Given the description of an element on the screen output the (x, y) to click on. 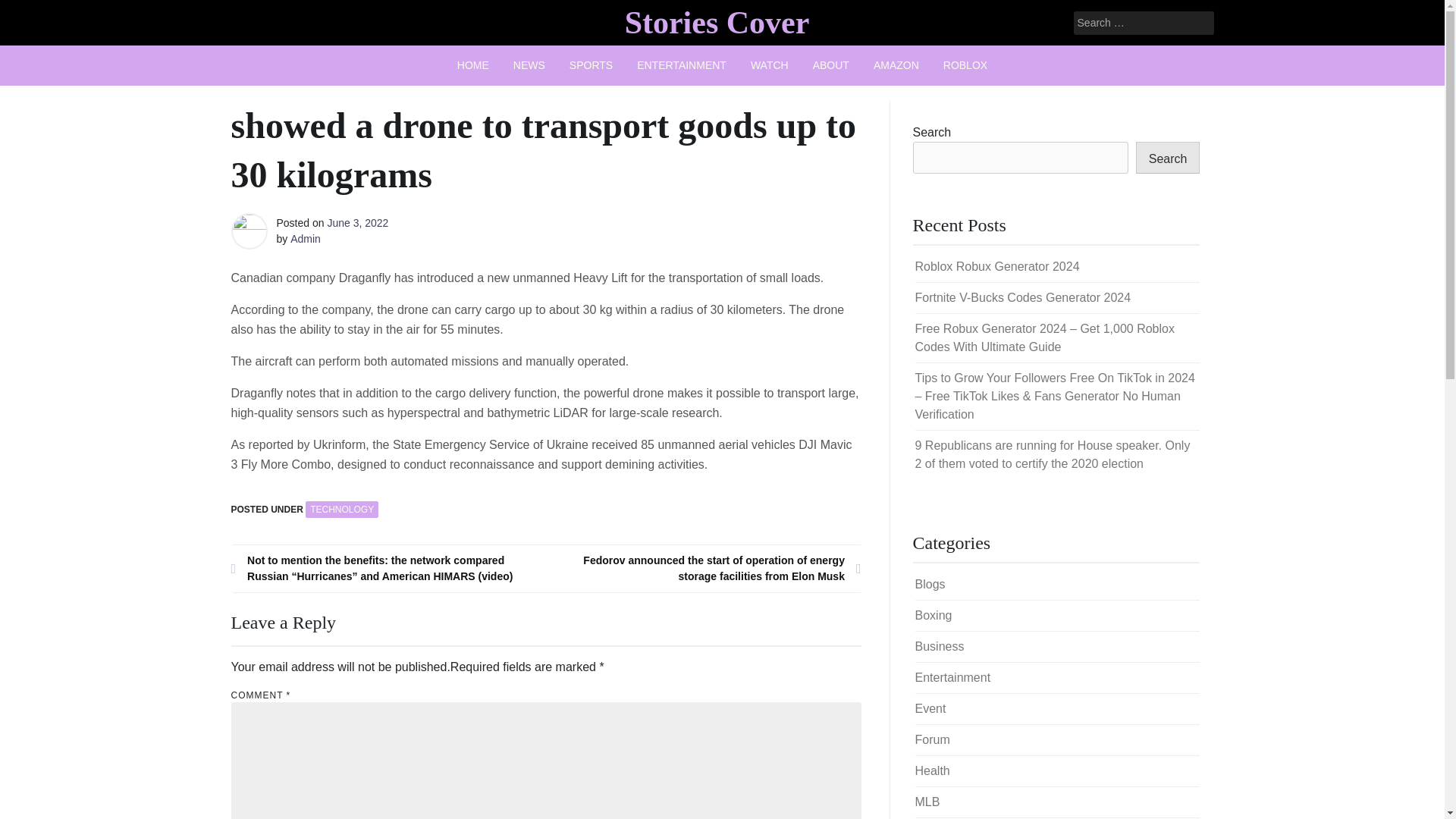
Admin (304, 238)
SPORTS (590, 65)
ENTERTAINMENT (681, 65)
ROBLOX (964, 65)
Search (32, 12)
AMAZON (896, 65)
June 3, 2022 (357, 223)
WATCH (769, 65)
ABOUT (830, 65)
